Given the description of an element on the screen output the (x, y) to click on. 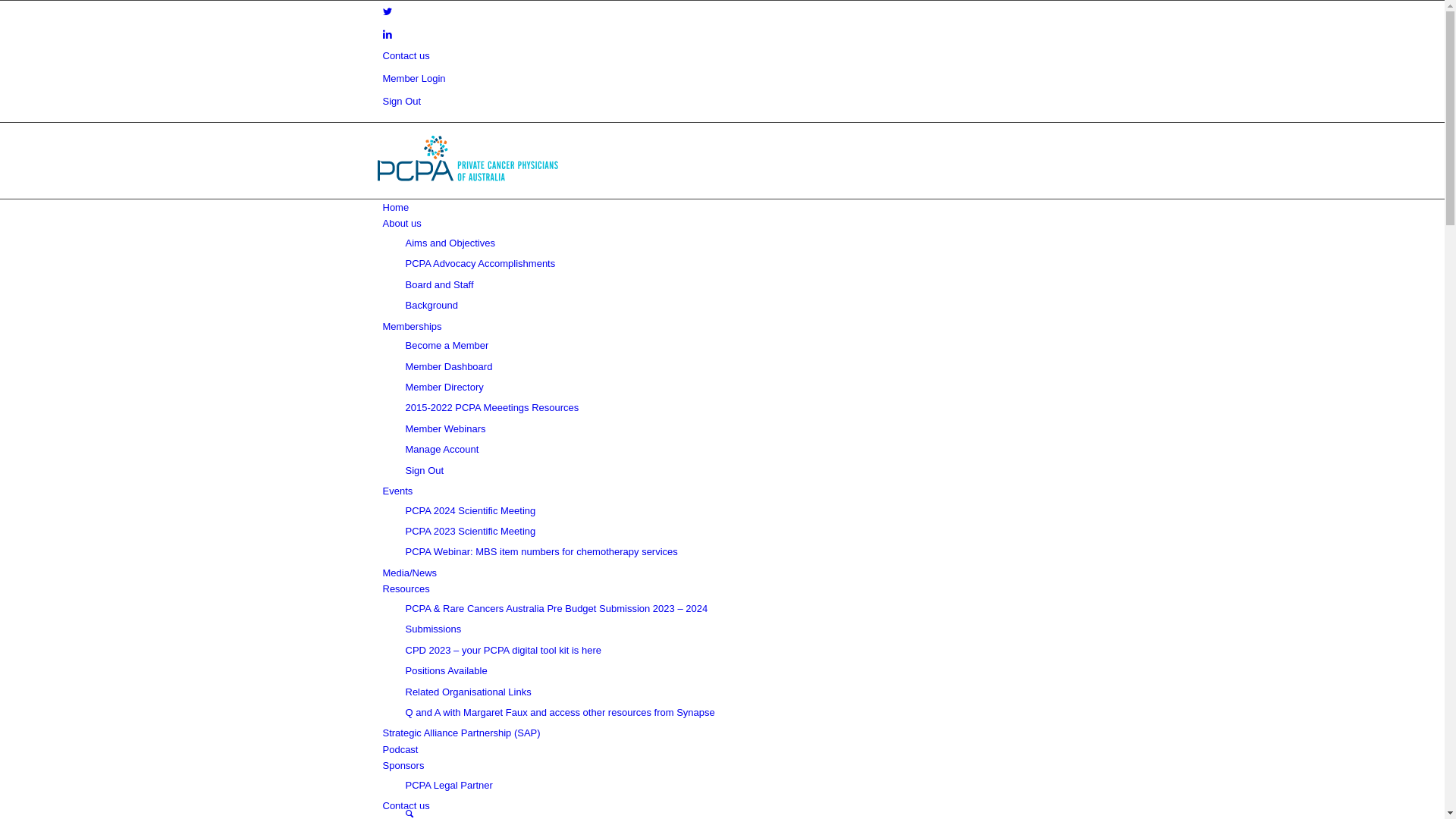
Member Login Element type: text (413, 78)
LinkedIn Element type: hover (386, 34)
Submissions Element type: text (432, 628)
PCPA Webinar: MBS item numbers for chemotherapy services Element type: text (540, 551)
Podcast Element type: text (399, 749)
Sign Out Element type: text (401, 101)
PCPA 2023 Scientific Meeting Element type: text (469, 530)
Become a Member Element type: text (446, 345)
PCPA 2024 Scientific Meeting Element type: text (469, 510)
Member Directory Element type: text (443, 386)
2015-2022 PCPA Meeetings Resources Element type: text (491, 407)
Events Element type: text (397, 490)
Sign Out Element type: text (423, 470)
PCPA Advocacy Accomplishments Element type: text (479, 263)
Sponsors Element type: text (402, 765)
Positions Available Element type: text (445, 670)
Manage Account Element type: text (441, 449)
Resources Element type: text (405, 588)
Media/News Element type: text (409, 572)
Board and Staff Element type: text (438, 284)
Member Dashboard Element type: text (448, 366)
Contact us Element type: text (405, 805)
PCPA Legal Partner Element type: text (448, 784)
Member Webinars Element type: text (444, 428)
Memberships Element type: text (411, 326)
Strategic Alliance Partnership (SAP) Element type: text (460, 732)
Contact us Element type: text (405, 56)
Background Element type: text (430, 304)
About us Element type: text (401, 223)
Aims and Objectives Element type: text (449, 242)
Twitter Element type: hover (386, 11)
Home Element type: text (395, 207)
Related Organisational Links Element type: text (467, 690)
